Given the description of an element on the screen output the (x, y) to click on. 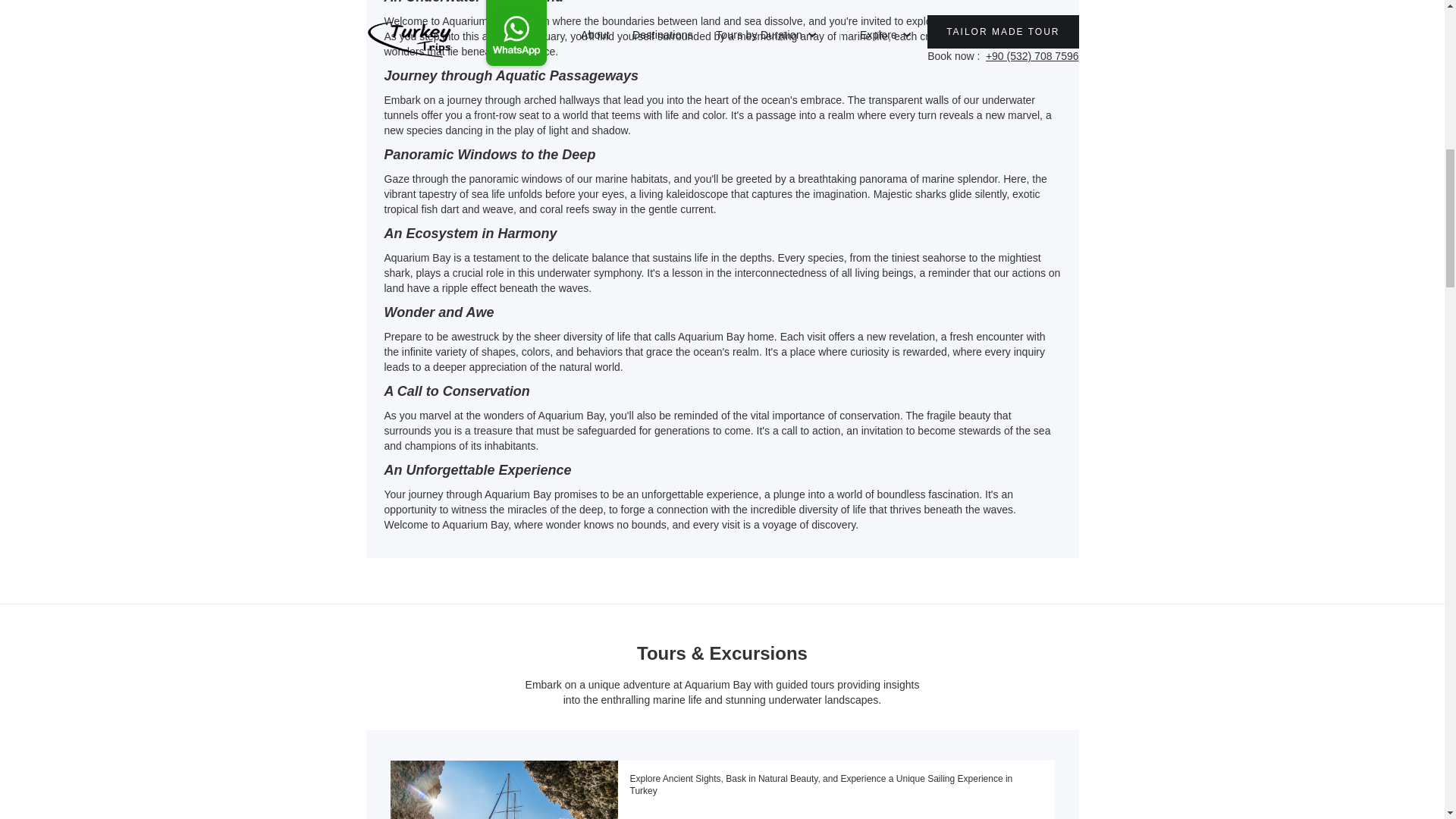
Turquoise Coastline 3-Day Getaway (835, 811)
